Given the description of an element on the screen output the (x, y) to click on. 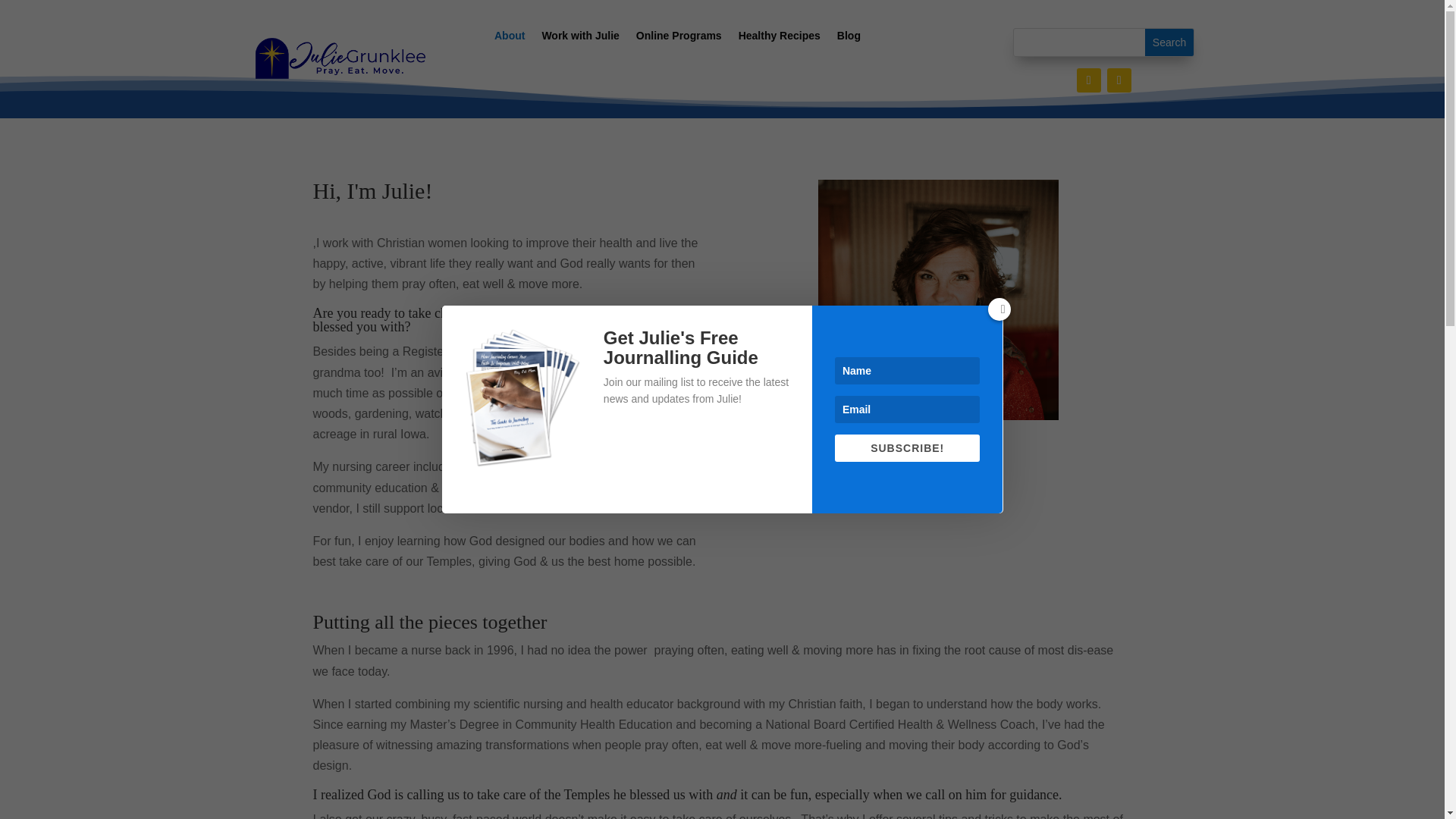
Work with Julie (579, 38)
Follow on Instagram (1118, 79)
Search (1168, 42)
Blog (848, 38)
NBC-HWC-logo-PMS3035-768x768 (800, 417)
Search (1168, 42)
Search (1168, 42)
SUBSCRIBE! (906, 447)
Follow on Facebook (1088, 79)
Online Programs (679, 38)
julie-grunklee-logo (340, 58)
About (509, 38)
Healthy Recipes (779, 38)
